Given the description of an element on the screen output the (x, y) to click on. 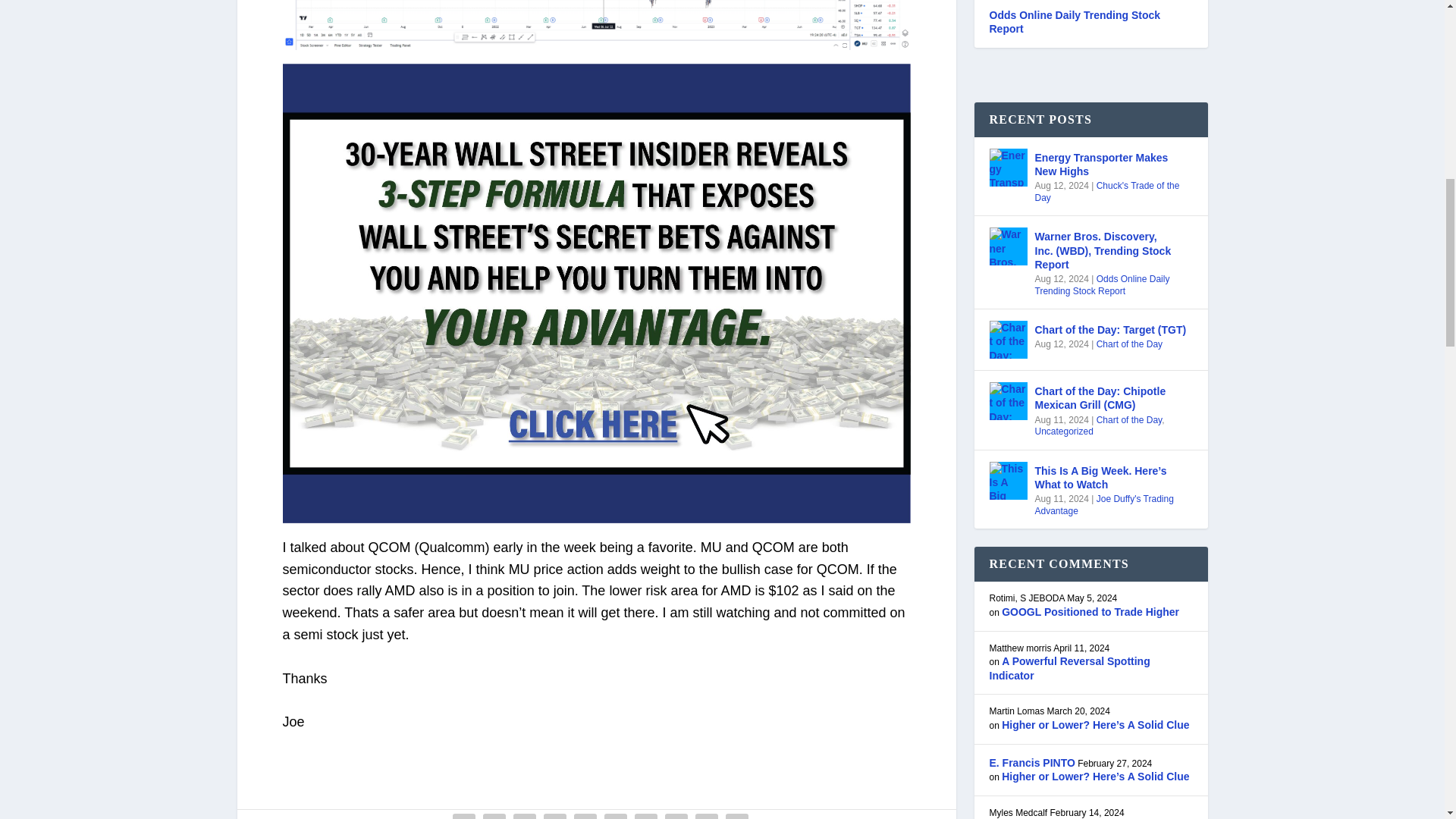
Share "Look At This Bullish Pattern" via Email (706, 814)
Share "Look At This Bullish Pattern" via Twitter (494, 814)
Share "Look At This Bullish Pattern" via LinkedIn (614, 814)
Share "Look At This Bullish Pattern" via Tumblr (555, 814)
Share "Look At This Bullish Pattern" via Stumbleupon (676, 814)
Share "Look At This Bullish Pattern" via Print (737, 814)
Share "Look At This Bullish Pattern" via Pinterest (584, 814)
Share "Look At This Bullish Pattern" via Buffer (645, 814)
Share "Look At This Bullish Pattern" via Facebook (463, 814)
